Given the description of an element on the screen output the (x, y) to click on. 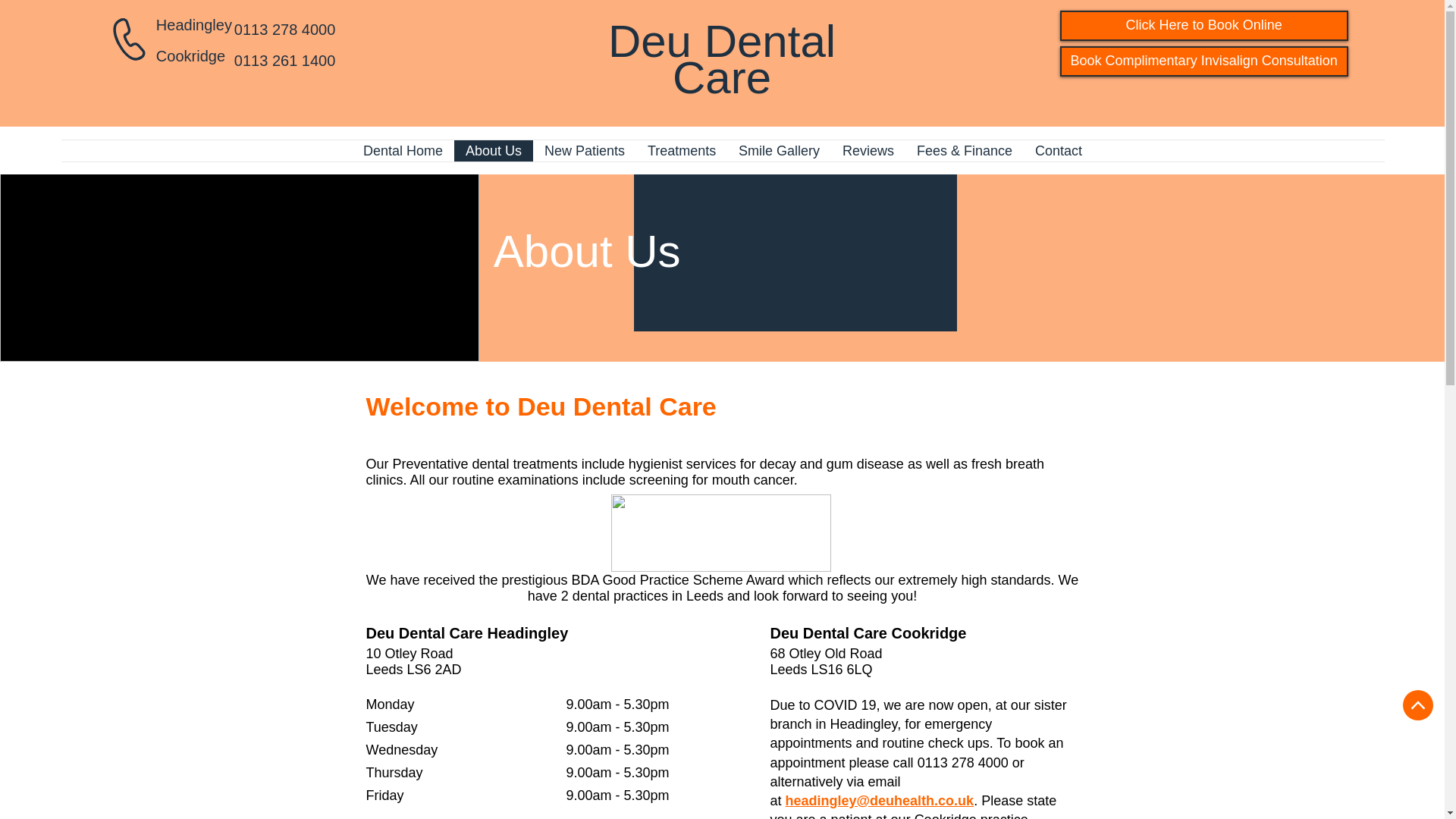
0113 261 1400 (284, 60)
Book Complimentary Invisalign Consultation (1203, 60)
Contact (1058, 150)
Treatments (681, 150)
0113 278 4000 (963, 762)
Click Here to Book Online (1203, 25)
Smile Gallery (778, 150)
About Us (493, 150)
Back To Top (1417, 705)
Reviews (868, 150)
